Given the description of an element on the screen output the (x, y) to click on. 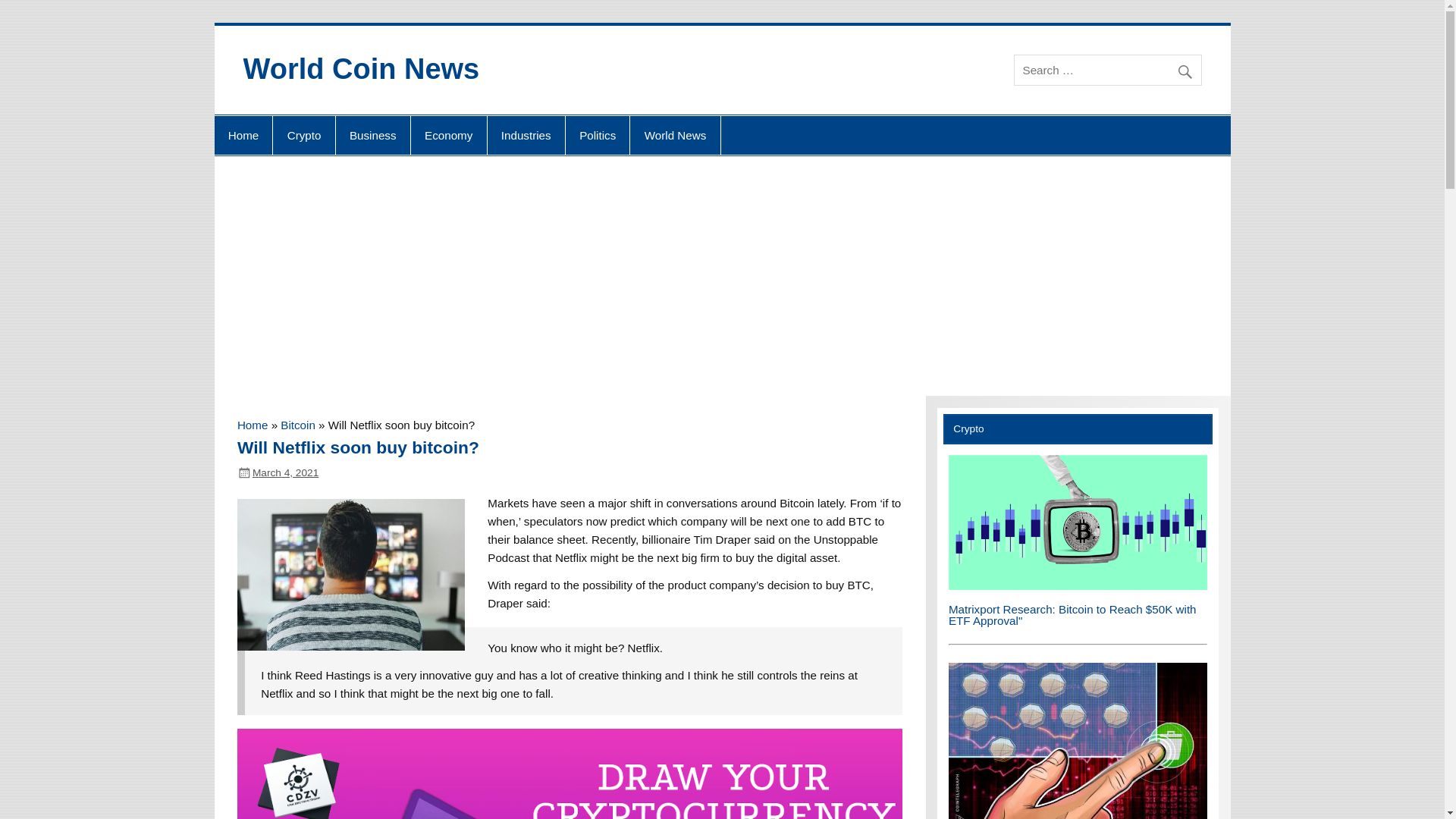
Economy (448, 135)
11:34 pm (284, 472)
Industries (525, 135)
Home (252, 424)
World Coin News (361, 69)
March 4, 2021 (284, 472)
Politics (598, 135)
Business (373, 135)
Bitcoin (298, 424)
World News (674, 135)
Home (243, 135)
Crypto (303, 135)
